Given the description of an element on the screen output the (x, y) to click on. 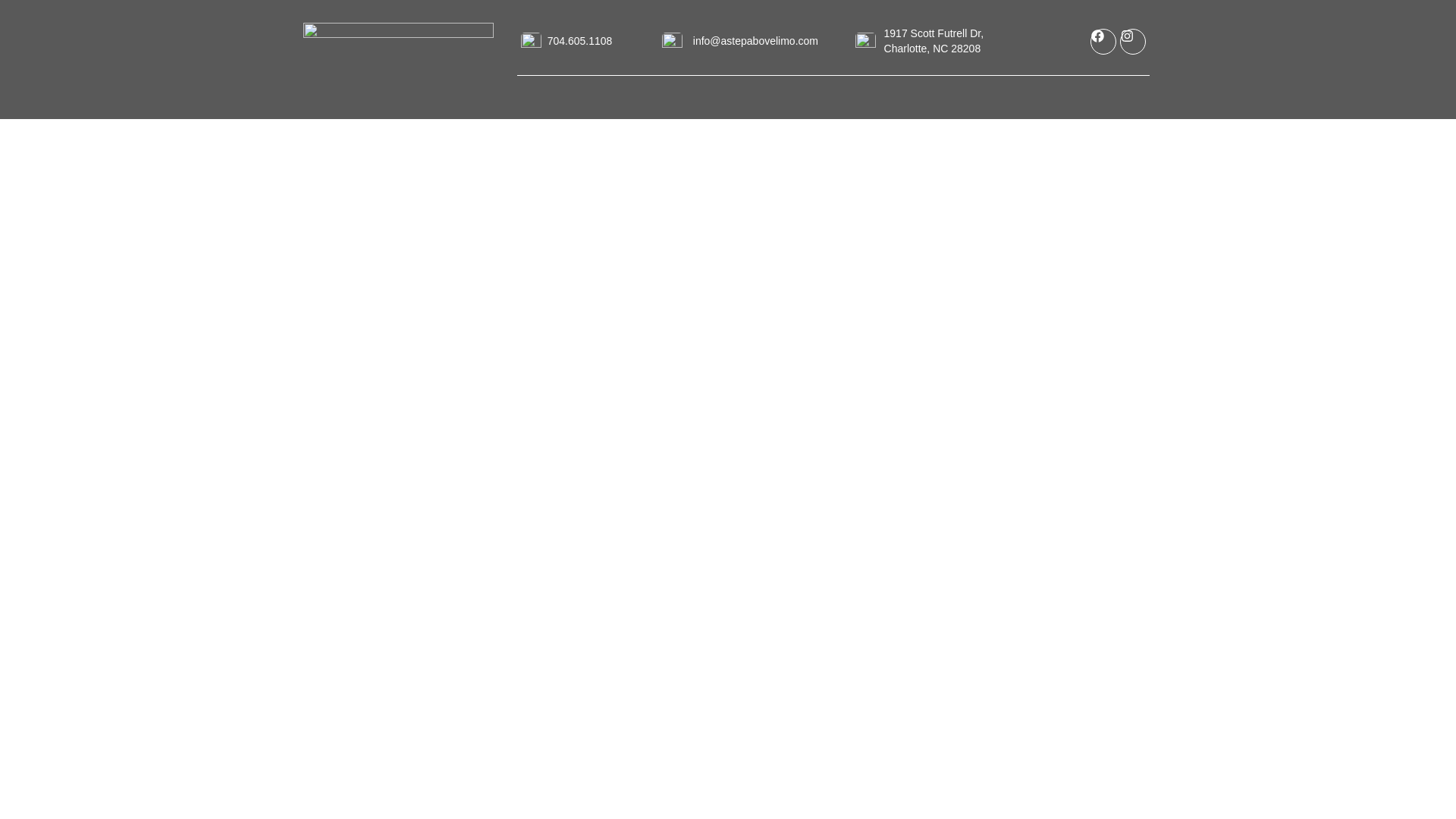
Facebook (1103, 41)
704.605.1108 (579, 40)
Instagram (1132, 41)
